Given the description of an element on the screen output the (x, y) to click on. 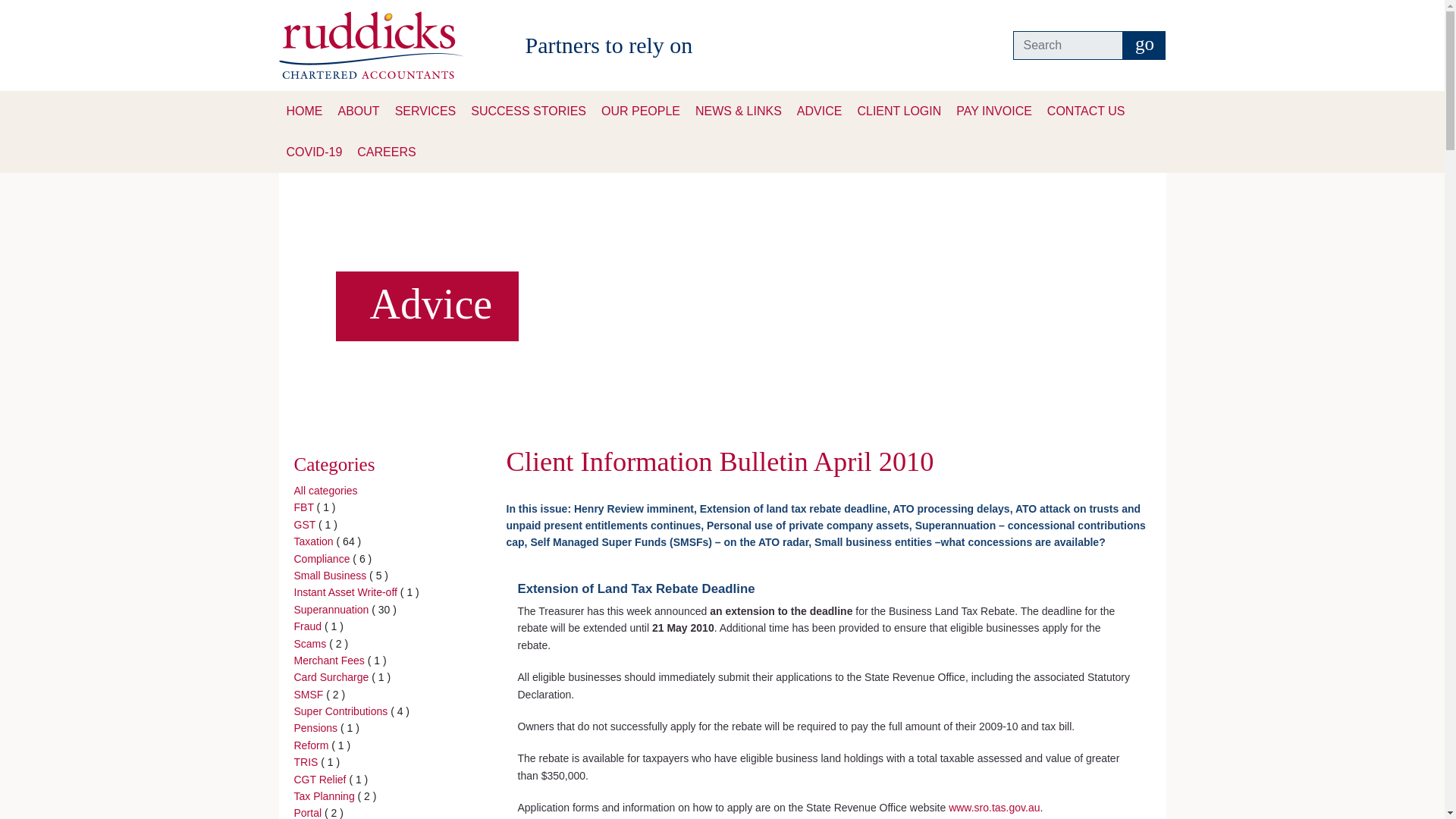
ADVICE (819, 110)
CONTACT US (1085, 110)
CLIENT LOGIN (898, 110)
COVID-19 (314, 151)
search input (1067, 45)
SERVICES (425, 110)
go (1144, 45)
CAREERS (386, 151)
OUR PEOPLE (640, 110)
HOME (304, 110)
